Given the description of an element on the screen output the (x, y) to click on. 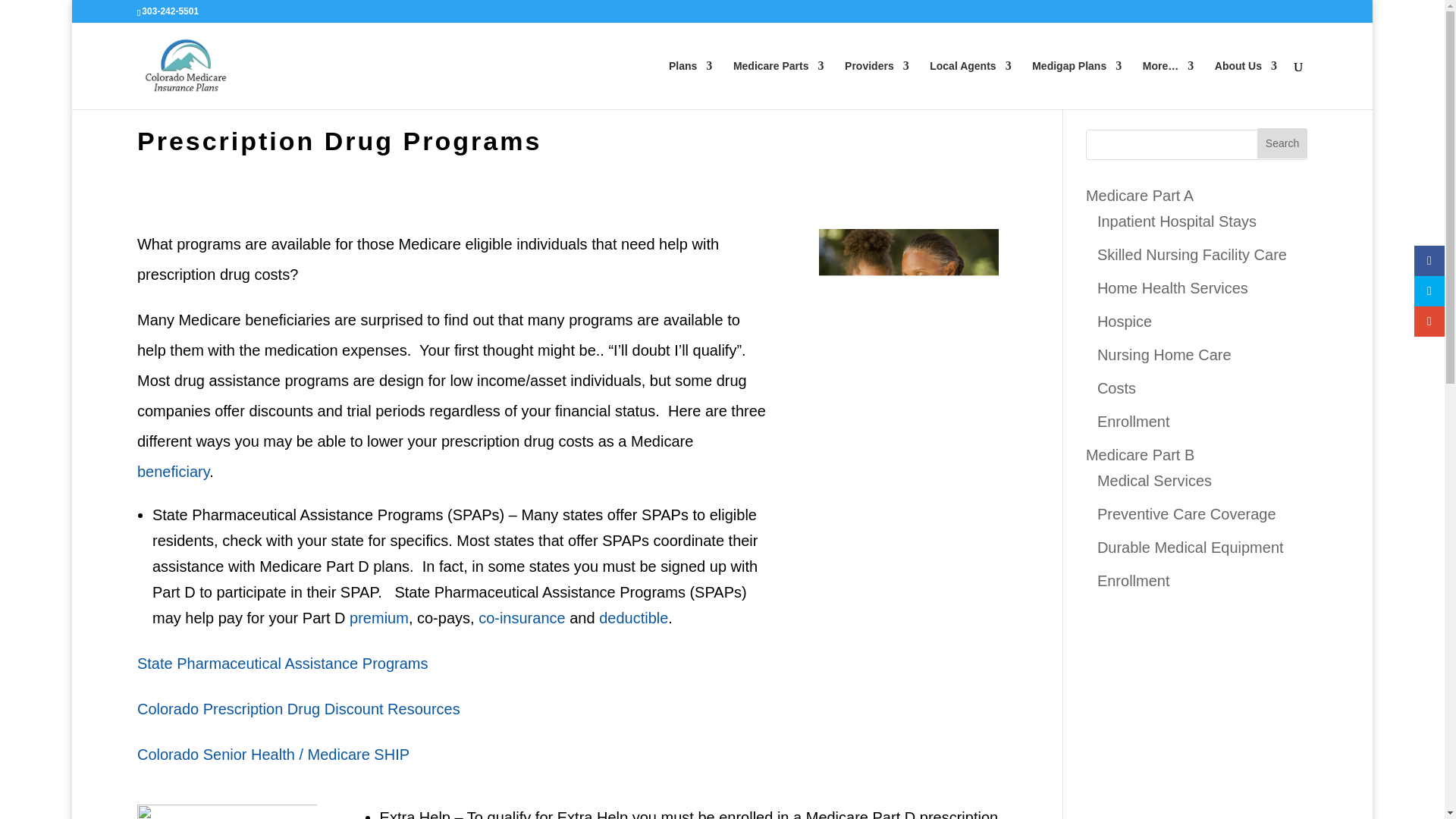
Providers (876, 84)
Plans (689, 84)
Medicare Parts (778, 84)
Search (1282, 142)
Medigap Plans (1076, 84)
Local Agents (970, 84)
